Given the description of an element on the screen output the (x, y) to click on. 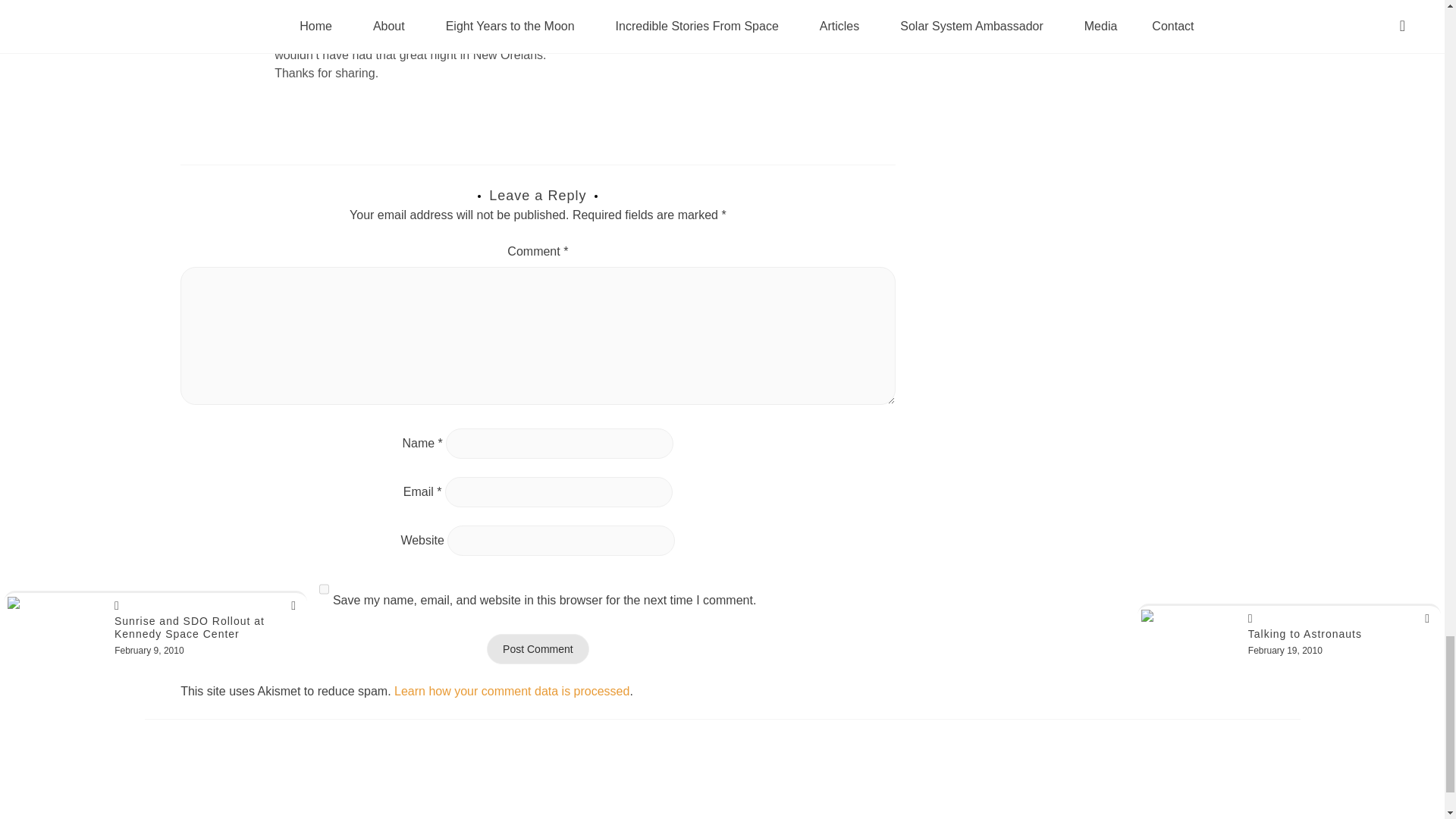
Post Comment (537, 648)
